Given the description of an element on the screen output the (x, y) to click on. 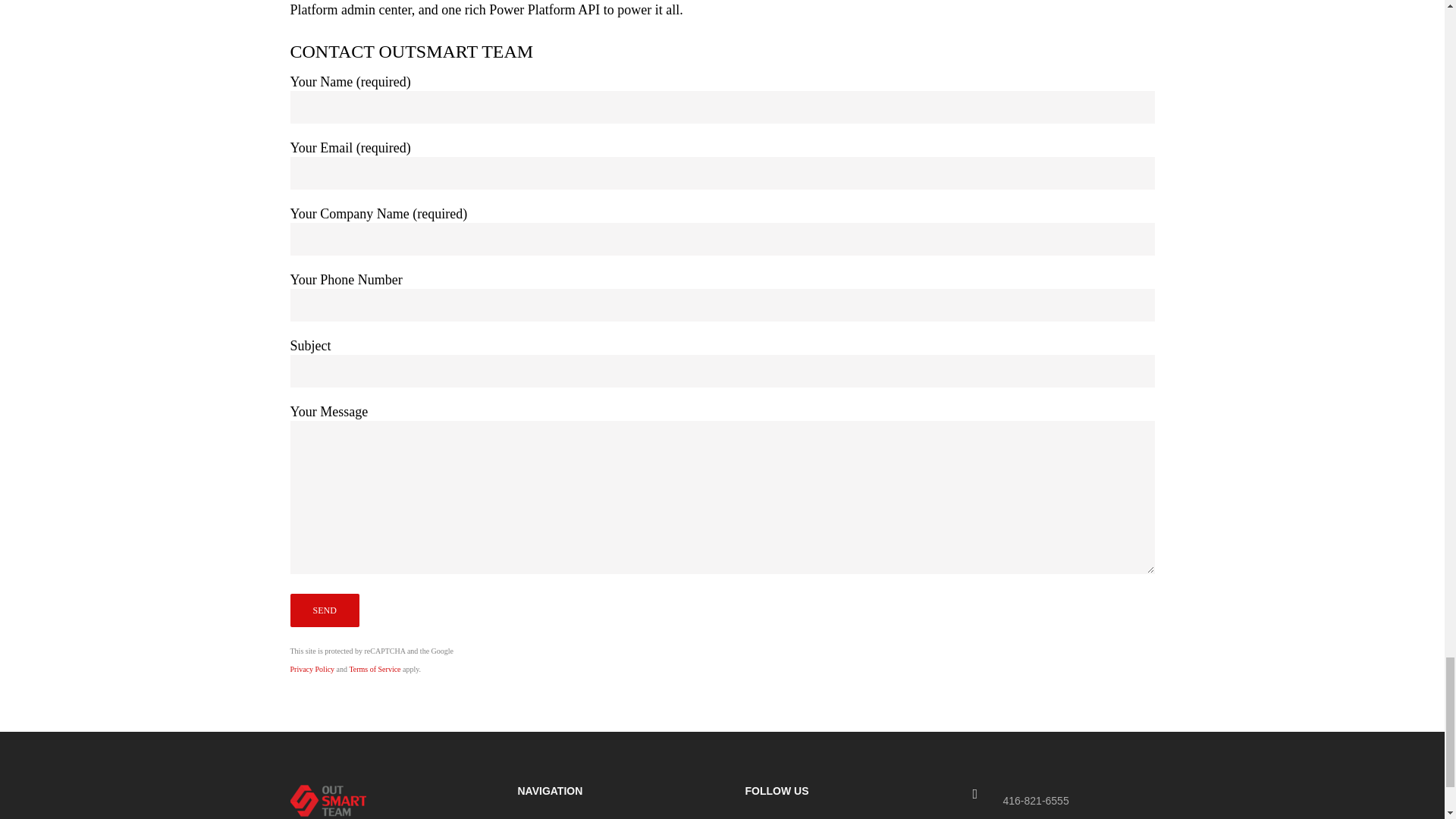
Send (323, 610)
